Given the description of an element on the screen output the (x, y) to click on. 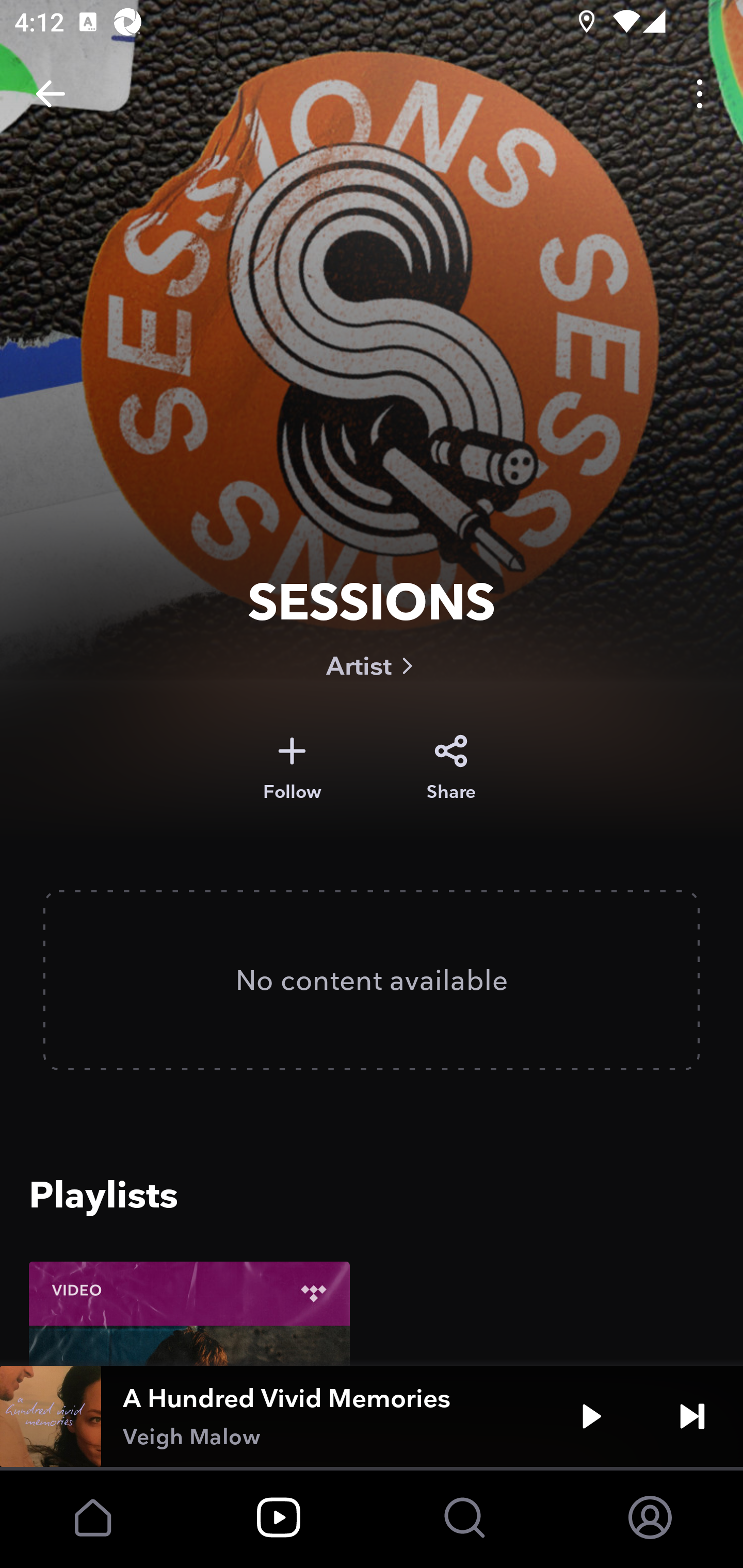
Options (699, 93)
Artist (371, 665)
Follow (291, 767)
Share (450, 767)
A Hundred Vivid Memories Veigh Malow Play (371, 1416)
Play (590, 1416)
